Given the description of an element on the screen output the (x, y) to click on. 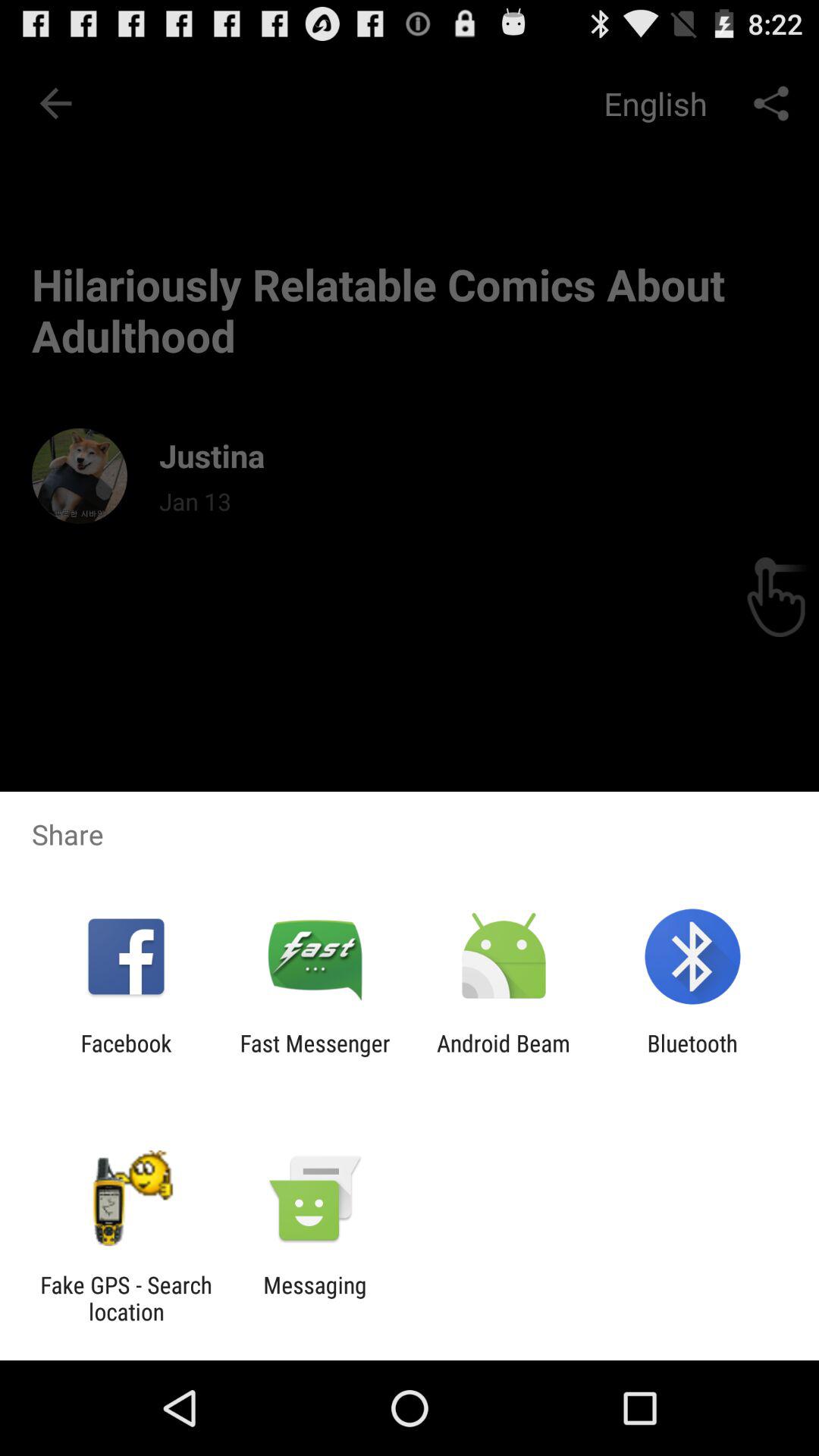
click the icon next to the fast messenger (125, 1056)
